Given the description of an element on the screen output the (x, y) to click on. 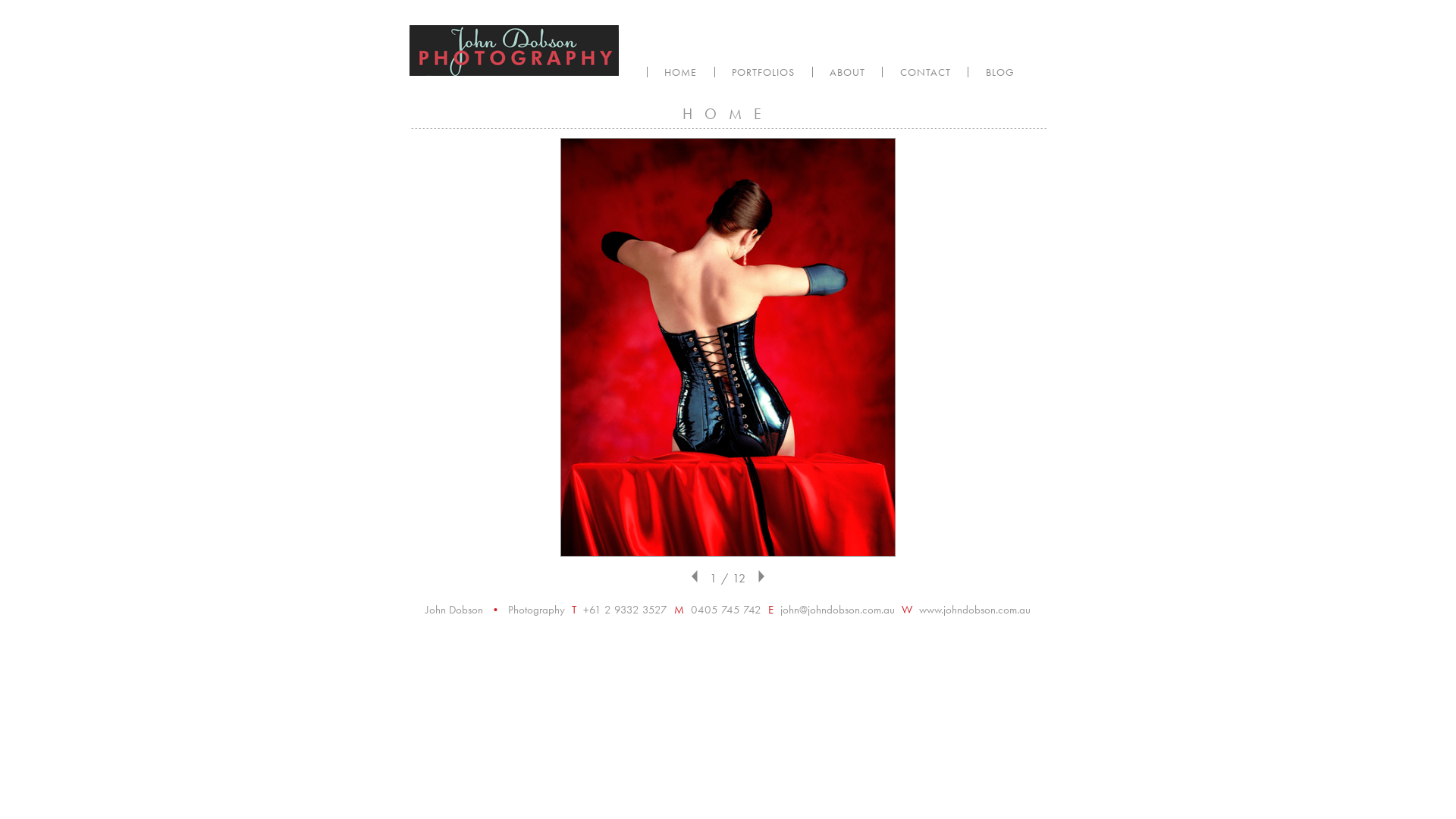
HOME Element type: text (680, 71)
CONTACT Element type: text (924, 71)
PORTFOLIOS Element type: text (763, 71)
www.johndobson.com.au Element type: text (974, 609)
ABOUT Element type: text (847, 71)
john@johndobson.com.au Element type: text (837, 609)
BLOG Element type: text (999, 71)
